Given the description of an element on the screen output the (x, y) to click on. 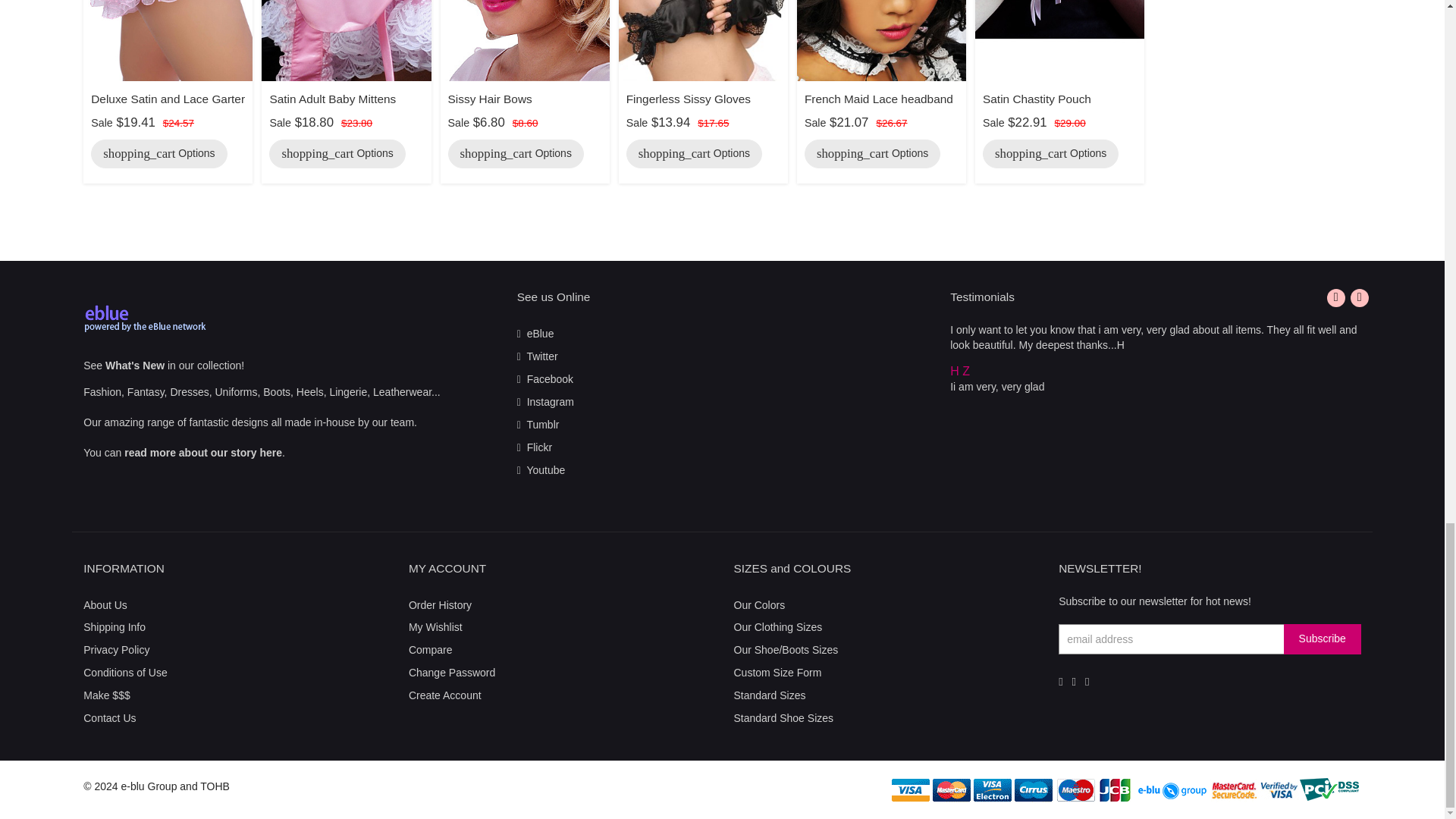
Subscribe (1322, 639)
